Given the description of an element on the screen output the (x, y) to click on. 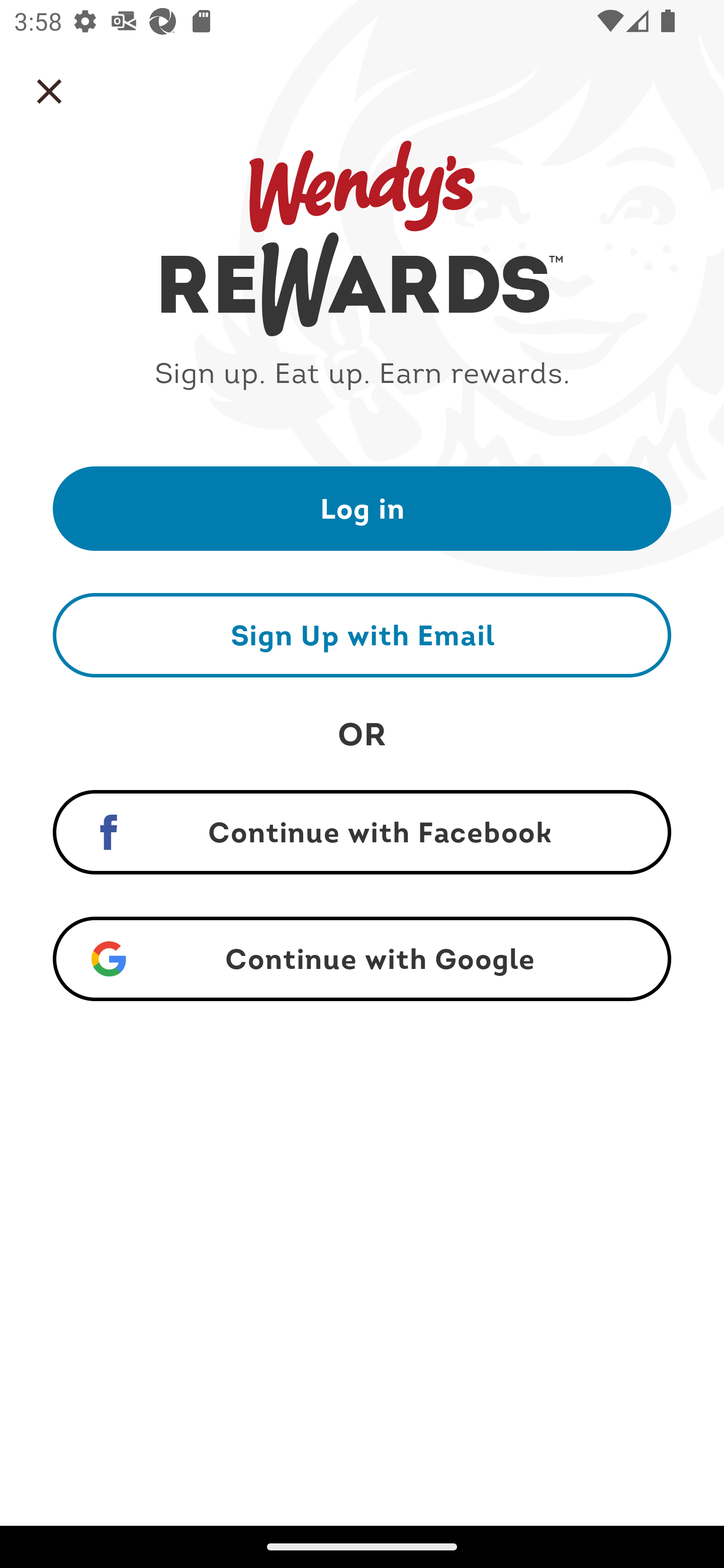
close (49, 91)
Log in (361, 507)
Sign Up with Email (361, 634)
Continue with Facebook (361, 832)
Continue with Google (361, 958)
